Given the description of an element on the screen output the (x, y) to click on. 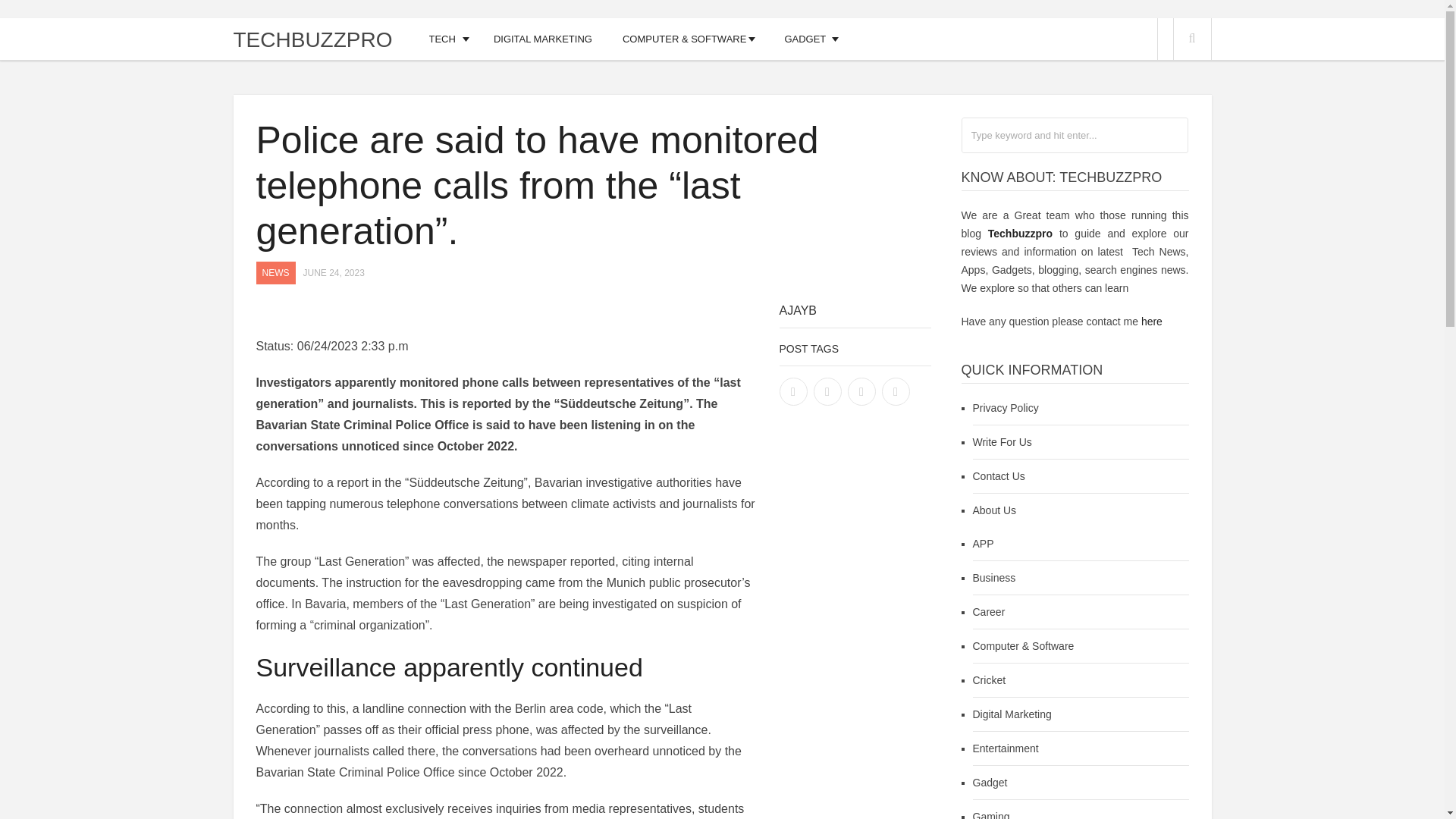
Privacy Policy (1005, 408)
Type keyword and hit enter... (1074, 135)
GADGET (804, 38)
NEWS (275, 272)
TechBuzzPro (312, 39)
DIGITAL MARKETING (542, 38)
TECHBUZZPRO (312, 39)
About Us (994, 510)
Business (993, 577)
APP (982, 543)
Techbuzzpro (1020, 233)
Cricket (989, 680)
here (1151, 321)
Contact Us (998, 476)
AJAYB (797, 309)
